Given the description of an element on the screen output the (x, y) to click on. 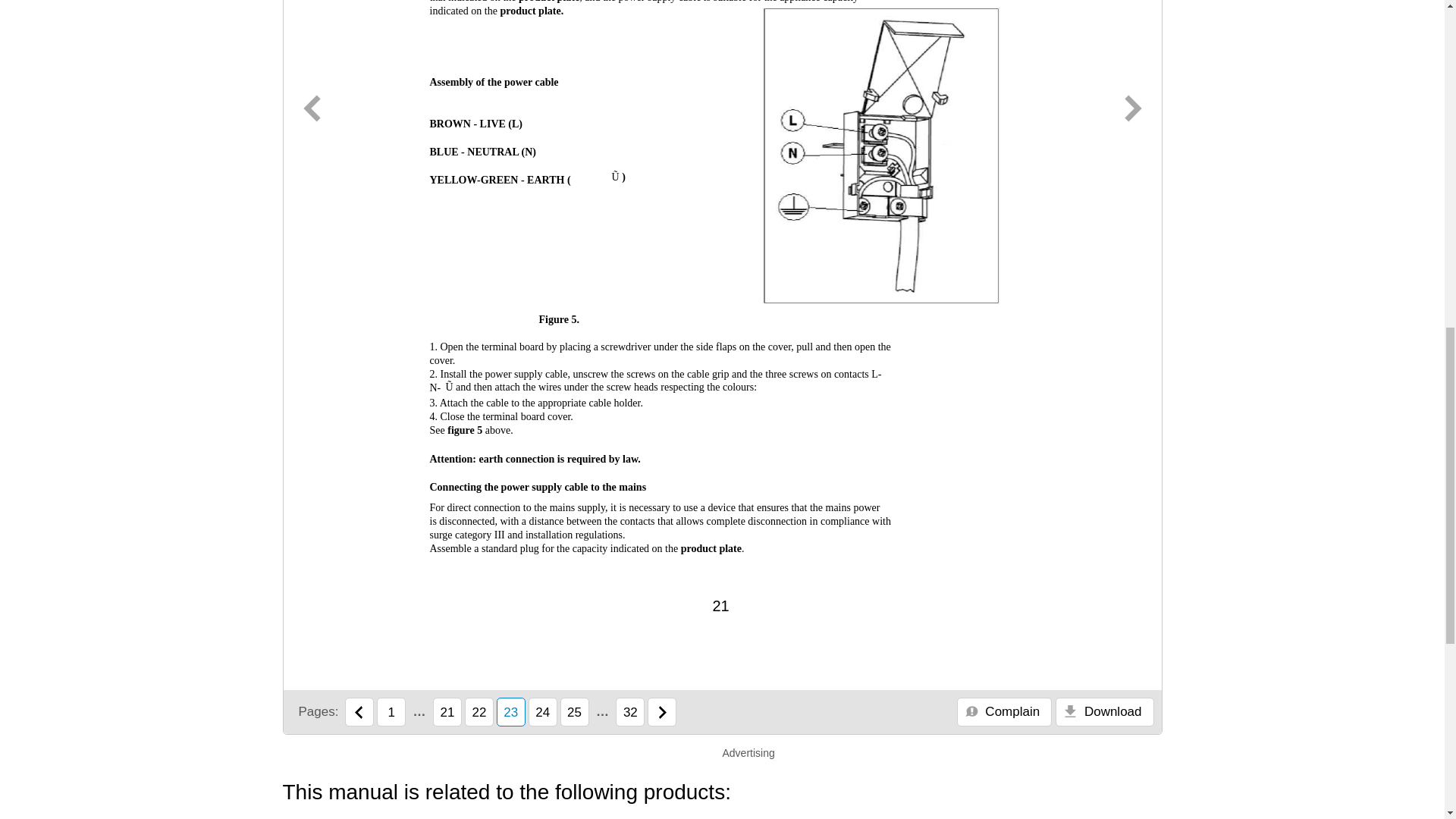
Download Manual (1104, 711)
Report a broken manual (1004, 711)
